Given the description of an element on the screen output the (x, y) to click on. 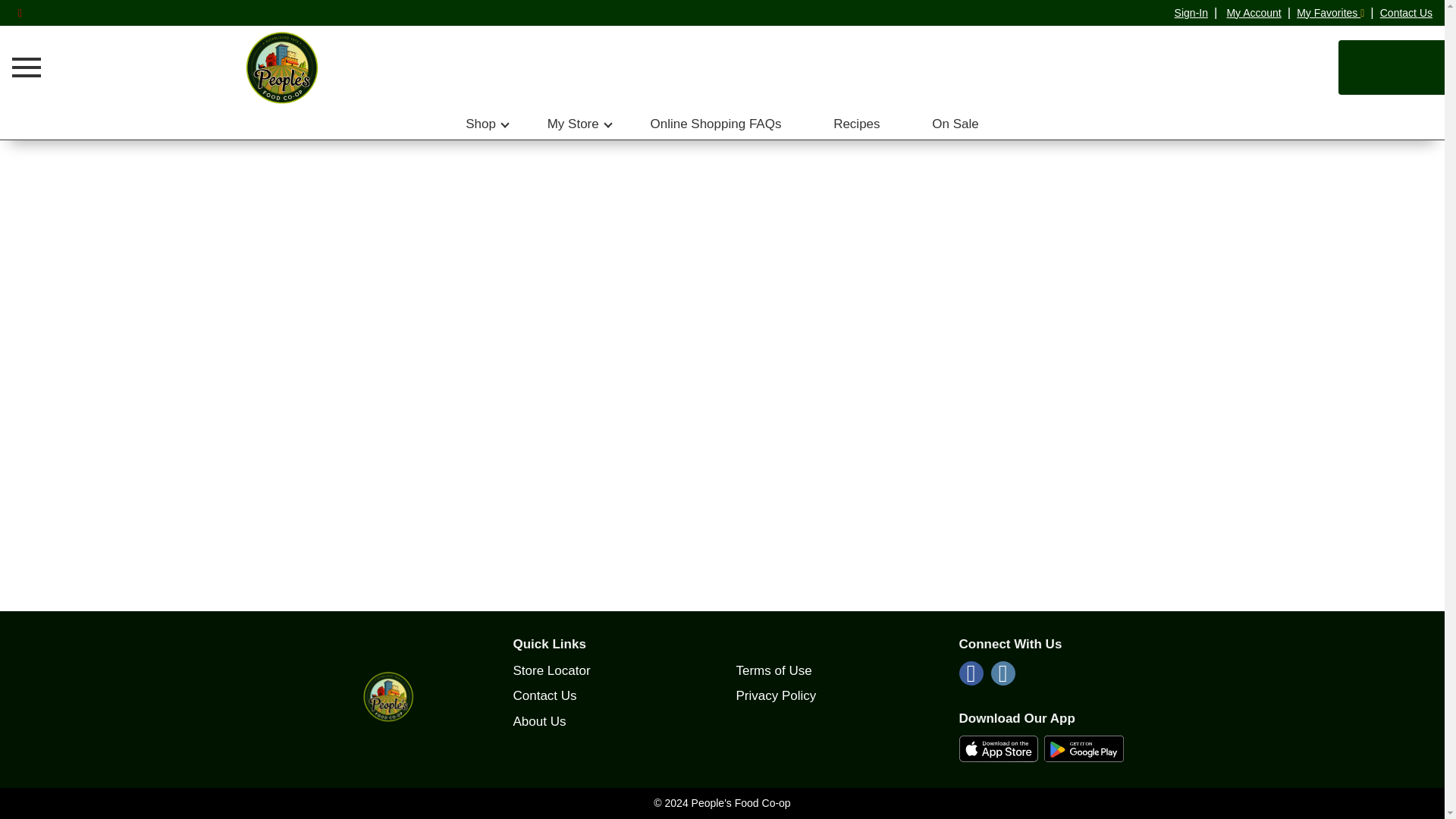
On Sale (954, 123)
Toggle navigation (24, 66)
Recipes (856, 123)
My Store (572, 123)
My Account (1253, 12)
Online Shopping FAQs (715, 123)
Store Locator (550, 669)
Shop (480, 123)
About Us (539, 721)
Sign-In (1191, 13)
My Favorites  (1330, 12)
instagram (1002, 677)
Contact Us (1406, 12)
facebook (970, 677)
Contact Us (544, 695)
